Given the description of an element on the screen output the (x, y) to click on. 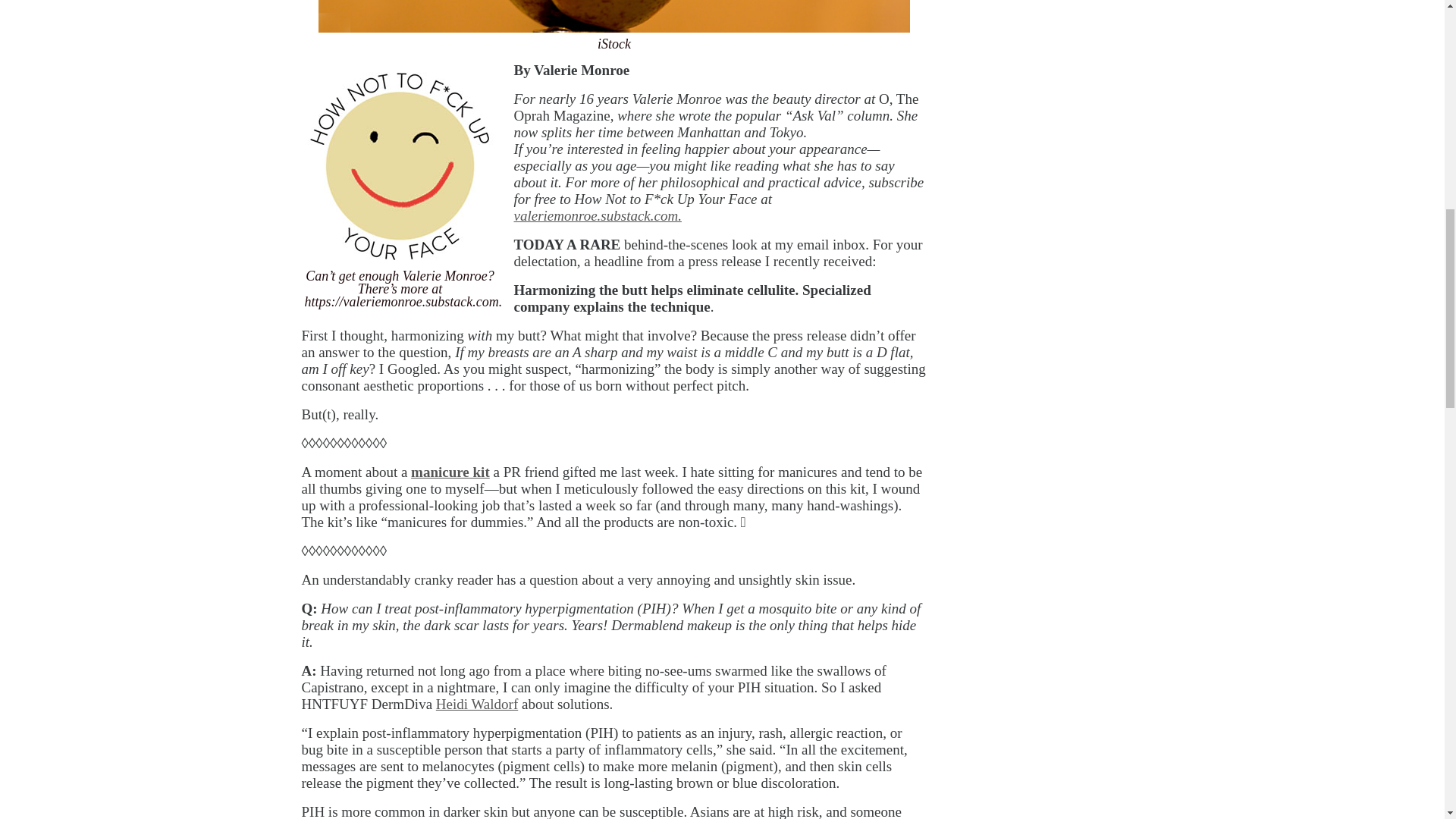
manicure kit (449, 471)
valeriemonroe.substack.com. (597, 215)
Heidi Waldorf (476, 703)
